Given the description of an element on the screen output the (x, y) to click on. 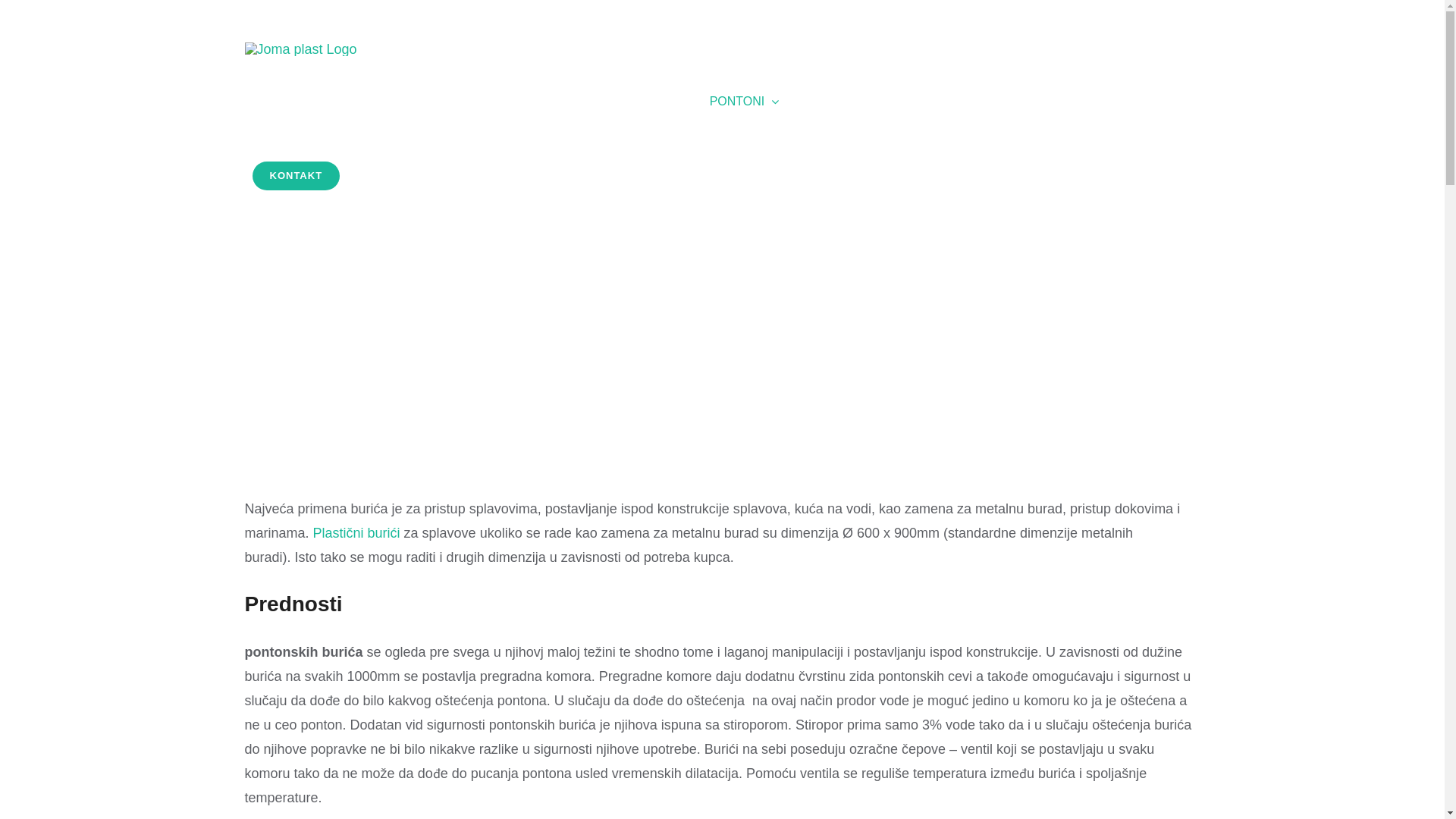
SEPARATORI Element type: text (633, 101)
PONTONI Element type: text (744, 101)
KONTAKT Element type: text (295, 175)
NASLOVNA Element type: text (284, 101)
REZERVOARI Element type: text (395, 101)
Kostajnica bb 74 000 Doboj Bosnia and Herzegovina Element type: text (1078, 16)
BLOG Element type: text (1144, 101)
info@emplus.ba Element type: text (908, 16)
+387 53 227 024 Element type: text (806, 16)
GALERIJA Element type: text (1067, 101)
